Given the description of an element on the screen output the (x, y) to click on. 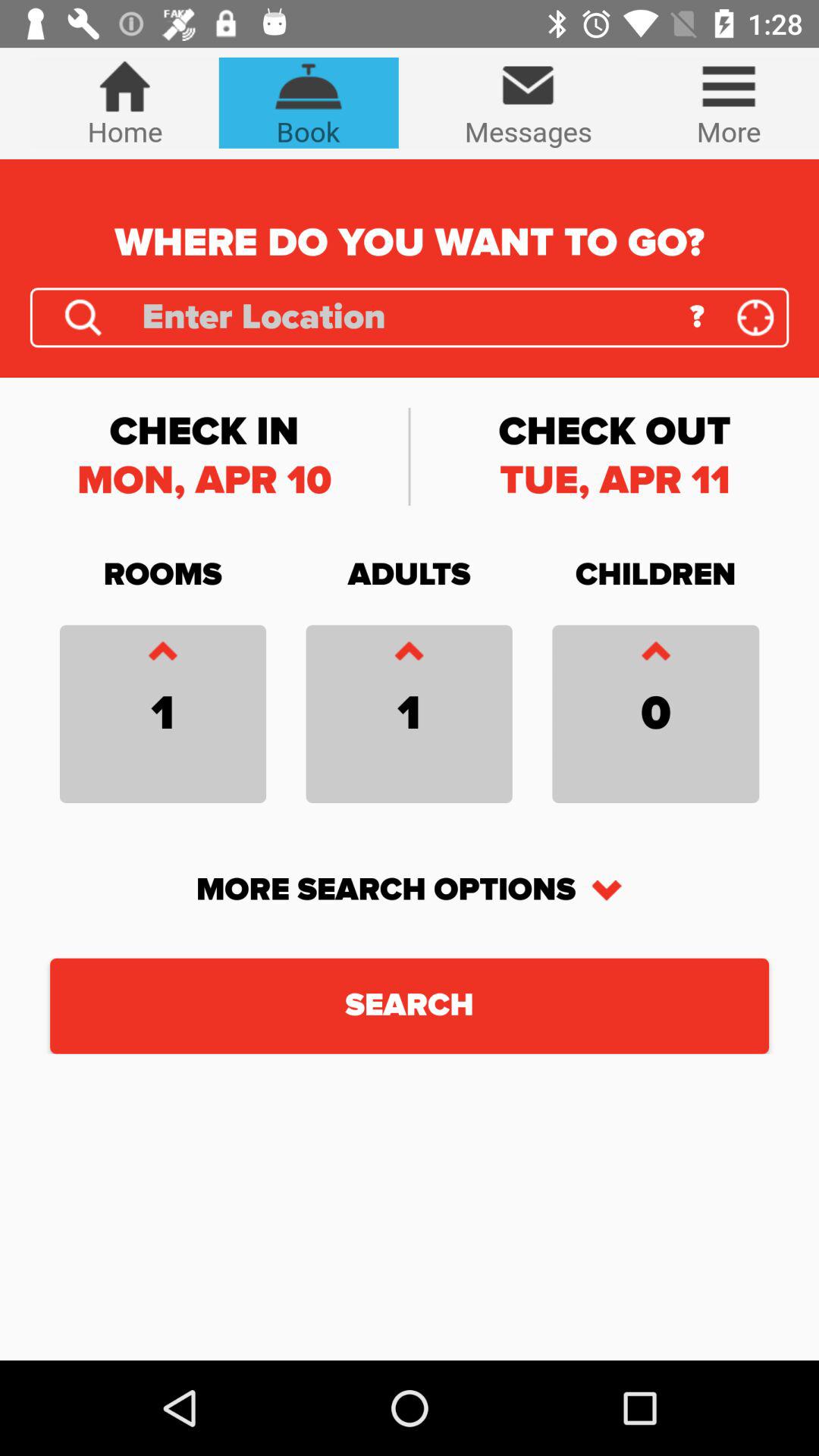
select the icon next to book (124, 102)
